Given the description of an element on the screen output the (x, y) to click on. 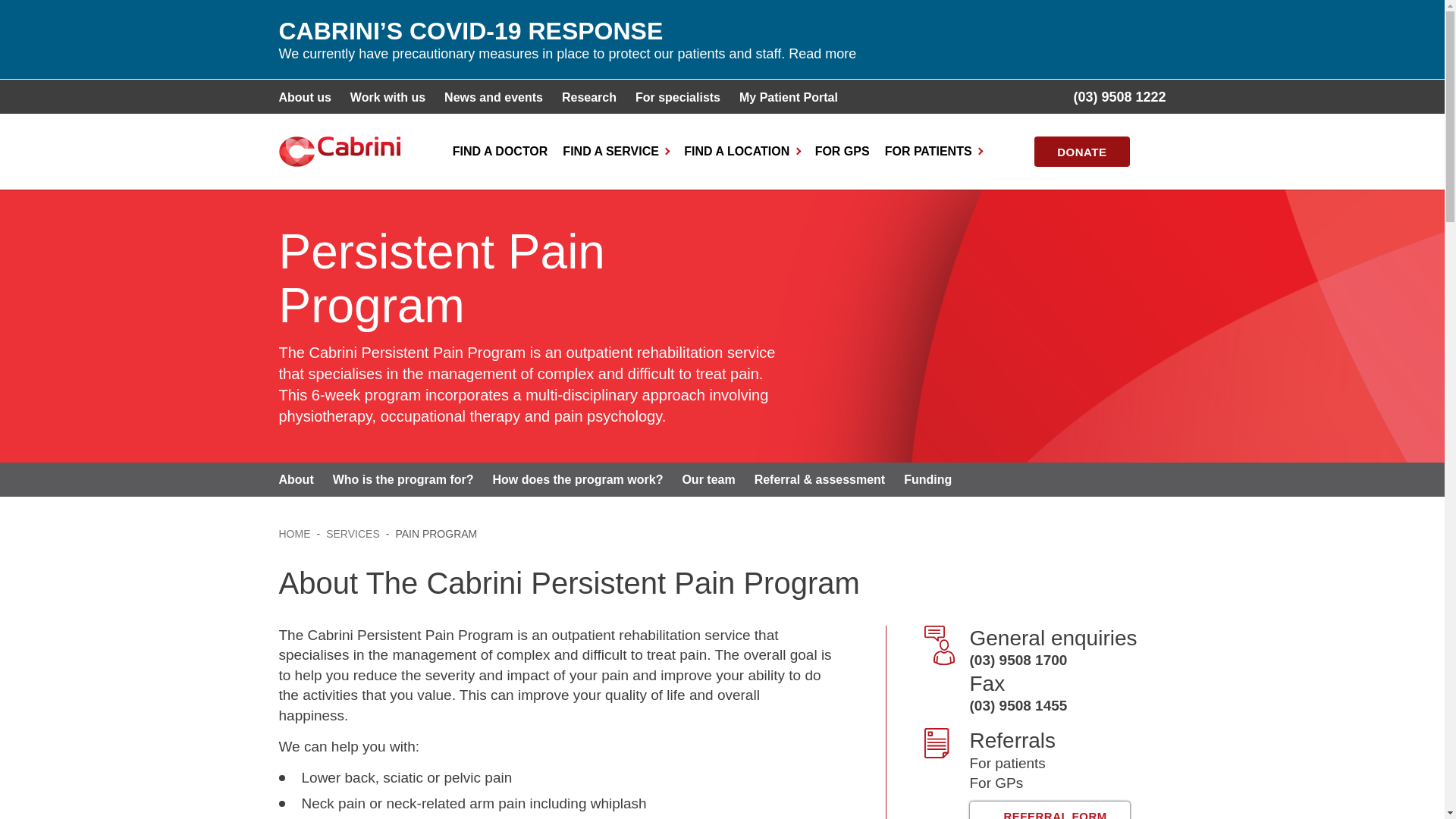
Work with us (387, 97)
FIND A DOCTOR (500, 151)
FIND A SERVICE (615, 151)
News and events (493, 97)
FIND A LOCATION (741, 151)
My Patient Portal (788, 97)
Read more (822, 53)
For specialists (677, 97)
Research (588, 97)
About us (305, 97)
